Given the description of an element on the screen output the (x, y) to click on. 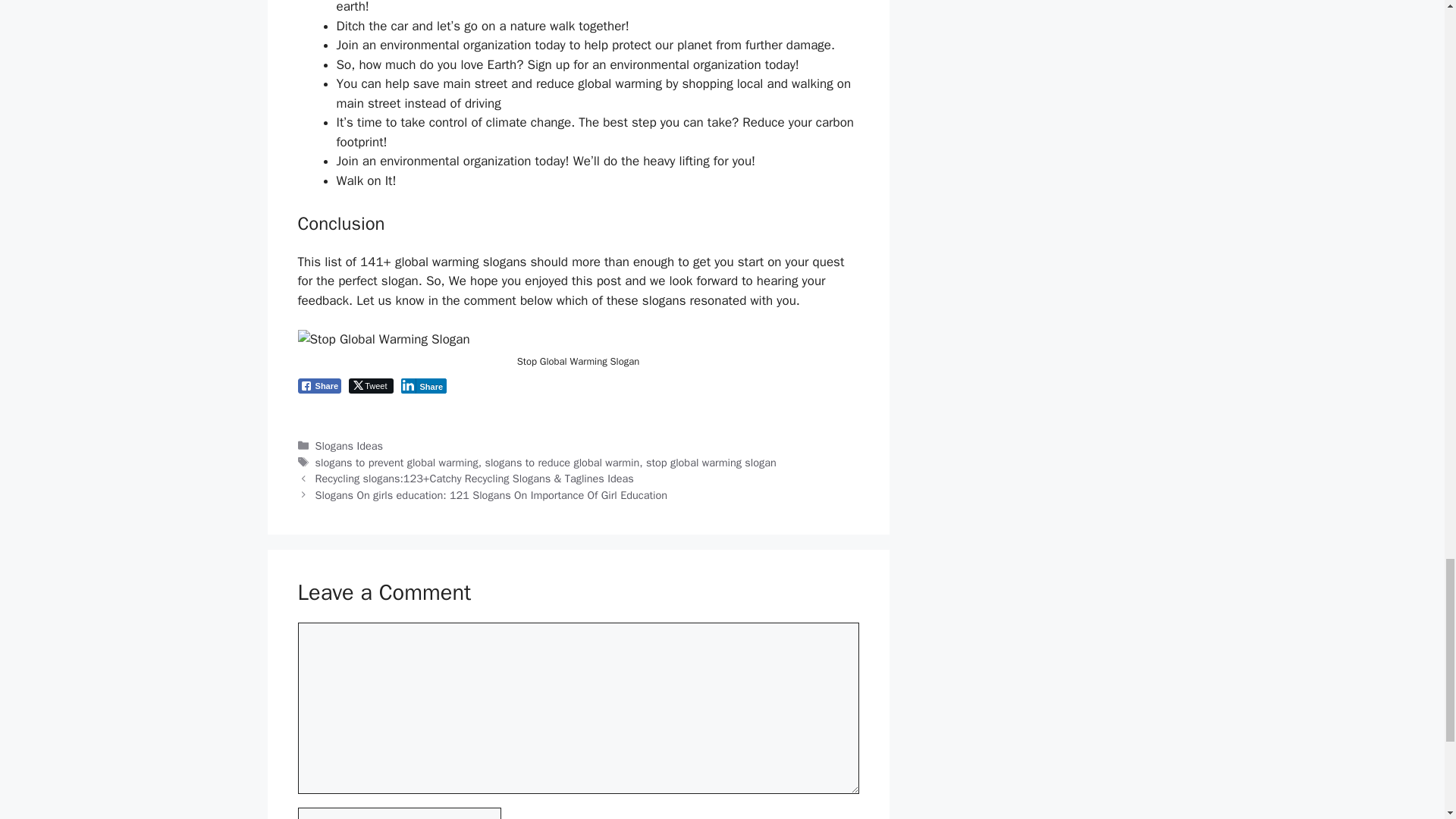
slogans to prevent global warming (397, 462)
Tweet (371, 385)
Share (423, 385)
slogans to reduce global warmin (561, 462)
stop global warming slogan (711, 462)
Slogans Ideas (348, 445)
Share (318, 385)
